Given the description of an element on the screen output the (x, y) to click on. 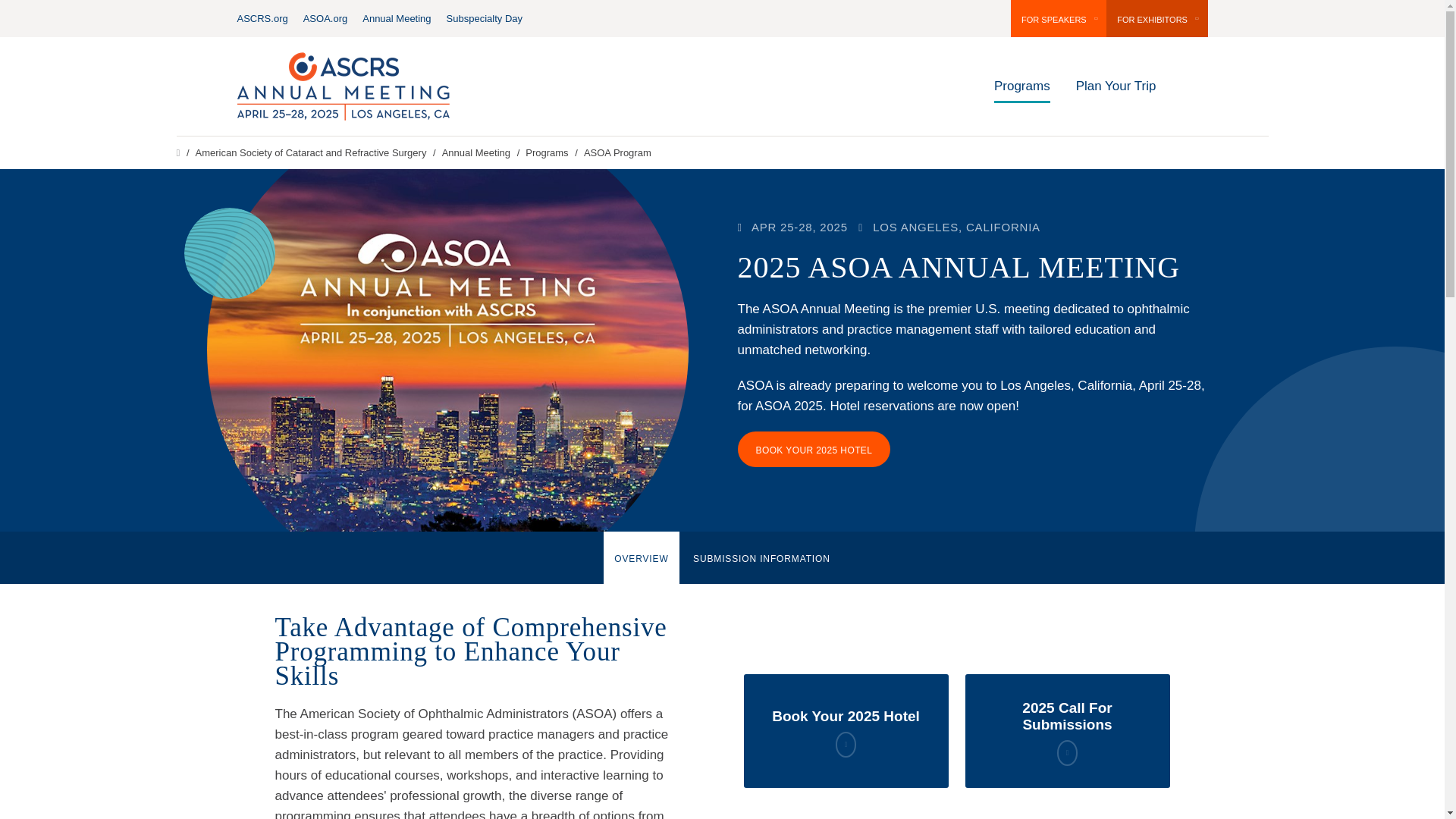
BOOK YOUR 2025 HOTEL (812, 448)
FOR SPEAKERS (1058, 18)
SUBMISSION INFORMATION (761, 556)
Annual Meeting (396, 18)
OVERVIEW (641, 556)
ASCRS.org (260, 18)
Book Your 2025 Hotel (844, 730)
Programs (541, 152)
Programs (1021, 86)
Subspecialty Day (484, 18)
American Society of Cataract and Refractive Surgery (304, 152)
ASOA.org (324, 18)
2025 Call For Submissions (1066, 730)
Plan Your Trip (1115, 86)
Annual Meeting (470, 152)
